Given the description of an element on the screen output the (x, y) to click on. 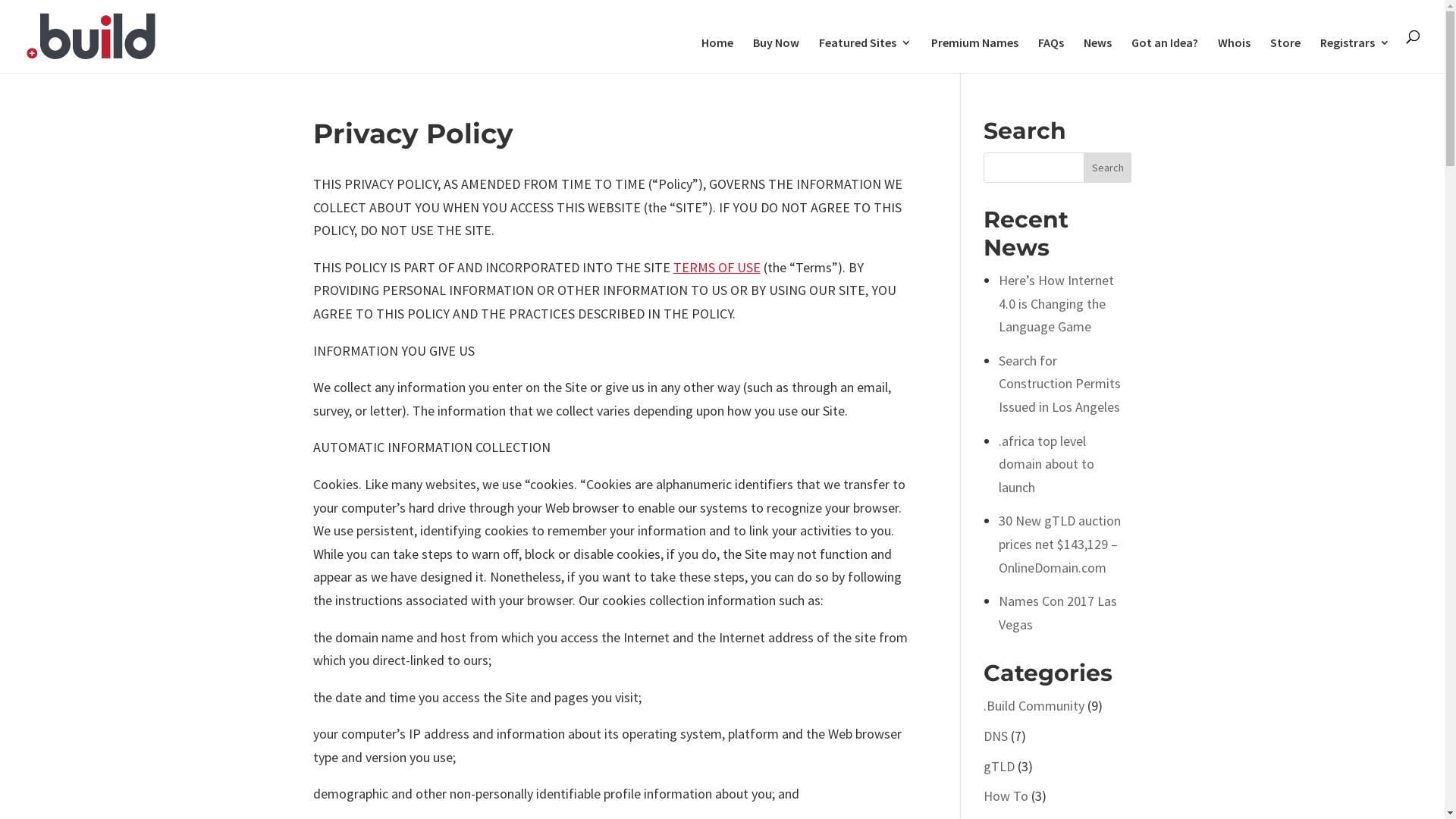
Search for Construction Permits Issued in Los Angeles Element type: text (1059, 383)
Store Element type: text (1285, 54)
.Build Community Element type: text (1033, 705)
News Element type: text (1097, 54)
.africa top level domain about to launch Element type: text (1046, 463)
Buy Now Element type: text (776, 54)
FAQs Element type: text (1050, 54)
Names Con 2017 Las Vegas Element type: text (1057, 612)
Whois Element type: text (1233, 54)
Got an Idea? Element type: text (1164, 54)
DNS Element type: text (995, 735)
Premium Names Element type: text (974, 54)
TERMS OF USE Element type: text (716, 267)
Registrars Element type: text (1355, 54)
Skip to content Element type: text (0, 0)
Search Element type: text (1107, 167)
Featured Sites Element type: text (865, 54)
How To Element type: text (1005, 795)
Home Element type: text (717, 54)
gTLD Element type: text (998, 765)
